Given the description of an element on the screen output the (x, y) to click on. 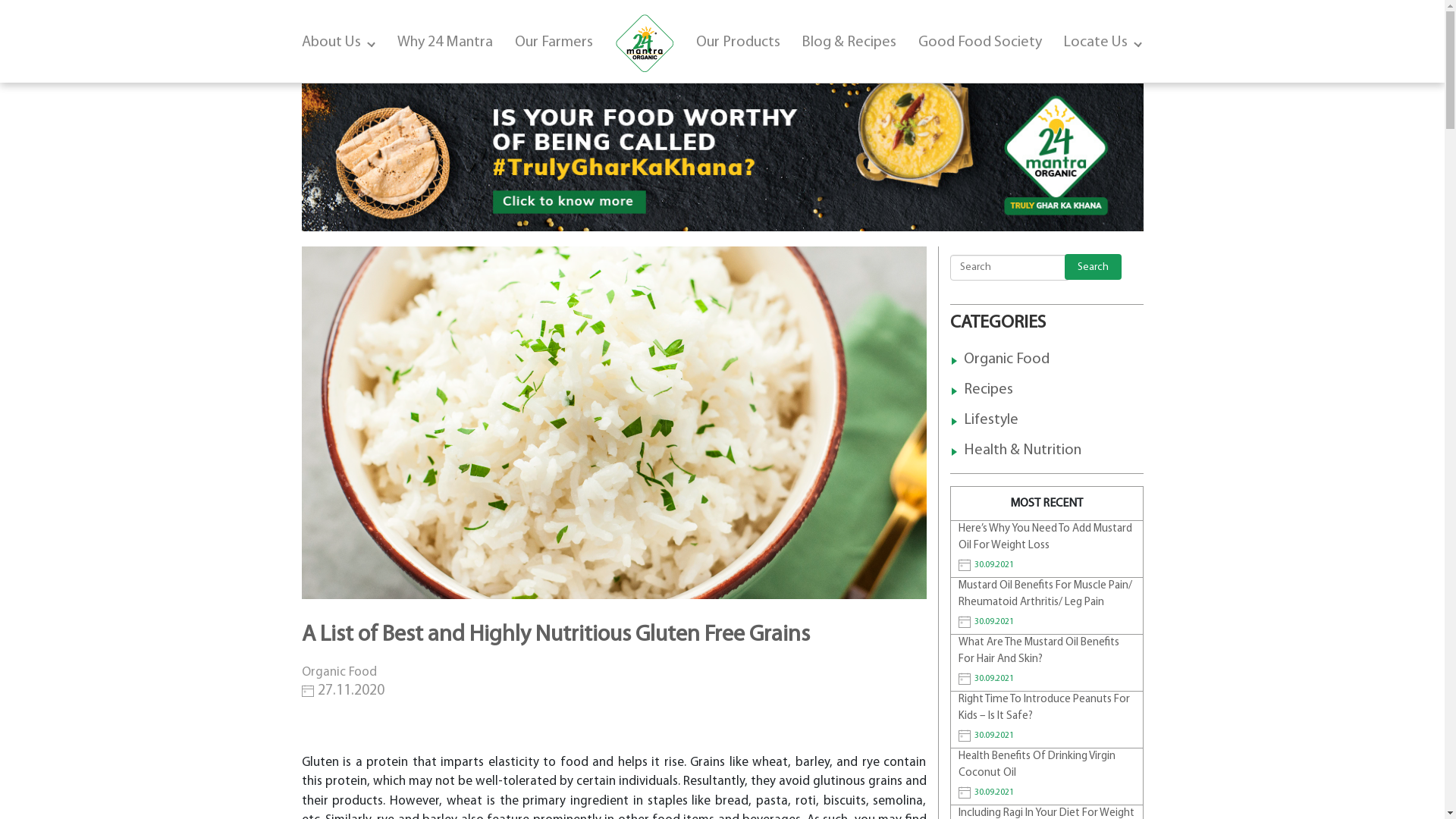
Recipes Element type: text (987, 389)
Health Benefits Of Drinking Virgin Coconut Oil Element type: text (1046, 765)
Our Products Element type: text (738, 41)
What Are The Mustard Oil Benefits For Hair And Skin? Element type: text (1046, 651)
Organic Food Element type: text (1005, 359)
Locate Us Element type: text (1102, 41)
Why 24 Mantra Element type: text (444, 41)
Search Element type: text (1092, 266)
Good Food Society Element type: text (979, 41)
Blog & Recipes Element type: text (848, 41)
Lifestyle Element type: text (990, 419)
About Us Element type: text (338, 41)
Our Farmers Element type: text (553, 41)
Health & Nutrition Element type: text (1021, 450)
